Given the description of an element on the screen output the (x, y) to click on. 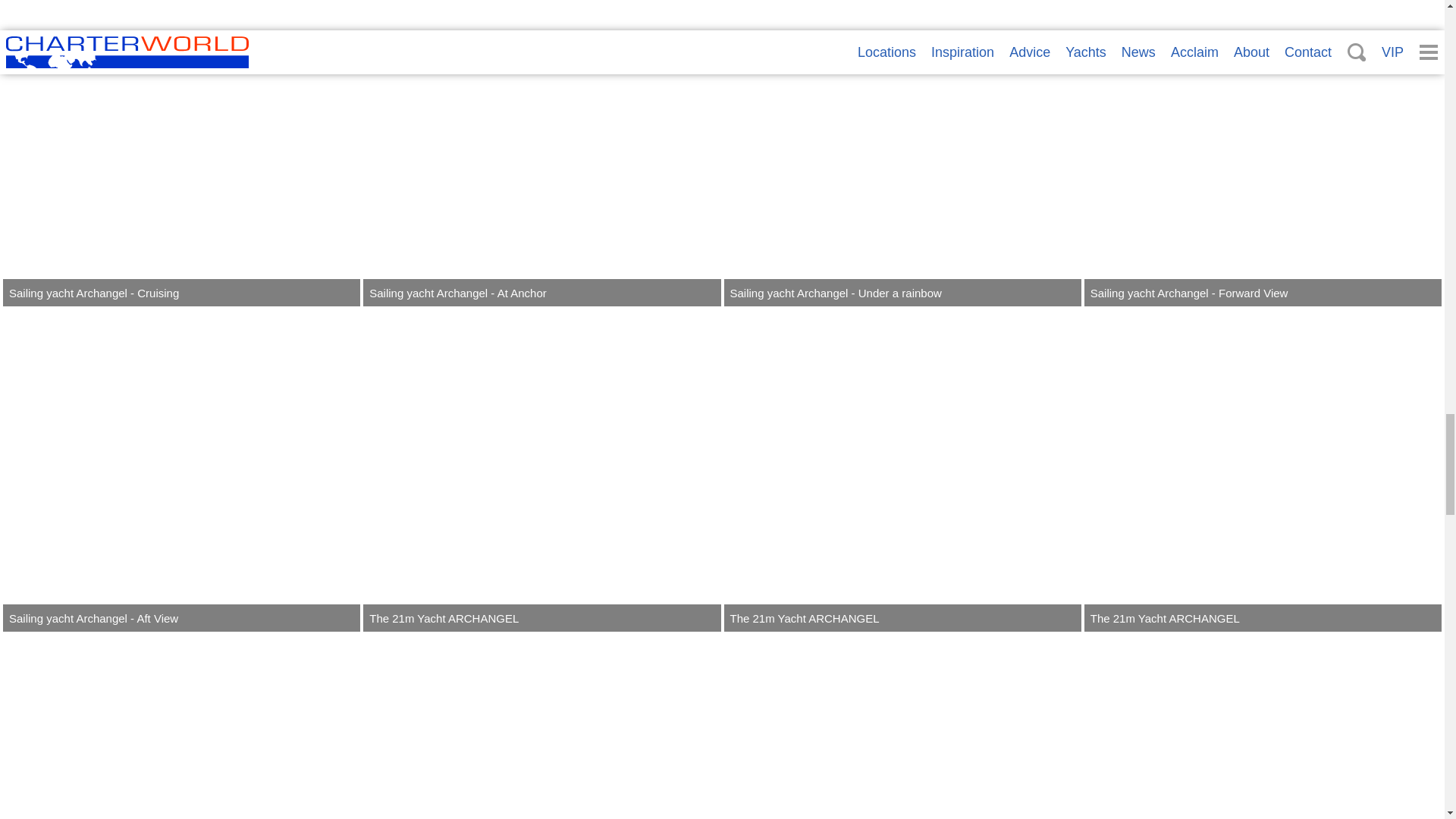
Sailing yacht Archangel -  Cruising (180, 153)
